Given the description of an element on the screen output the (x, y) to click on. 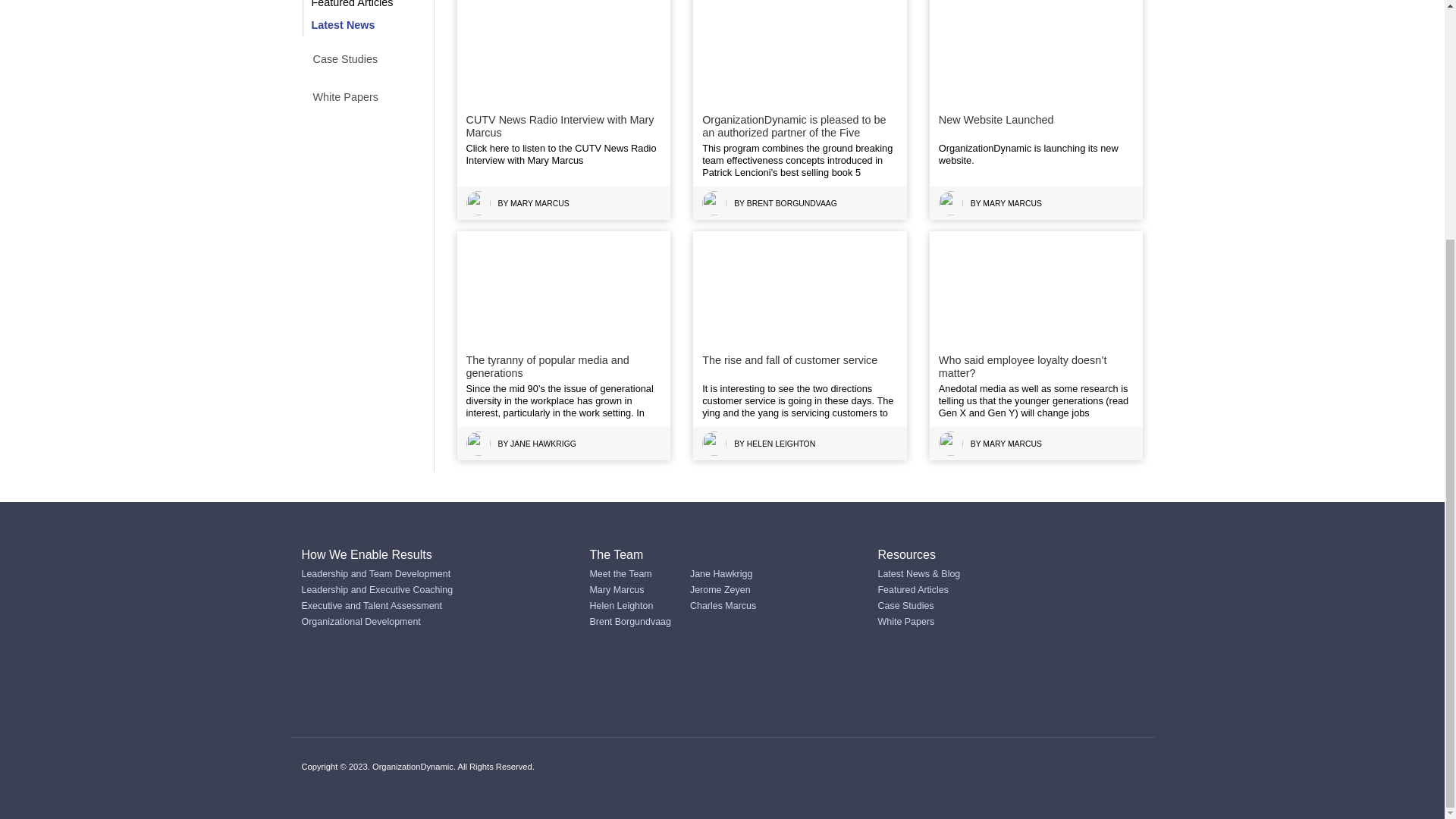
Case Studies (345, 59)
Latest News (342, 24)
Featured Articles (352, 4)
